Given the description of an element on the screen output the (x, y) to click on. 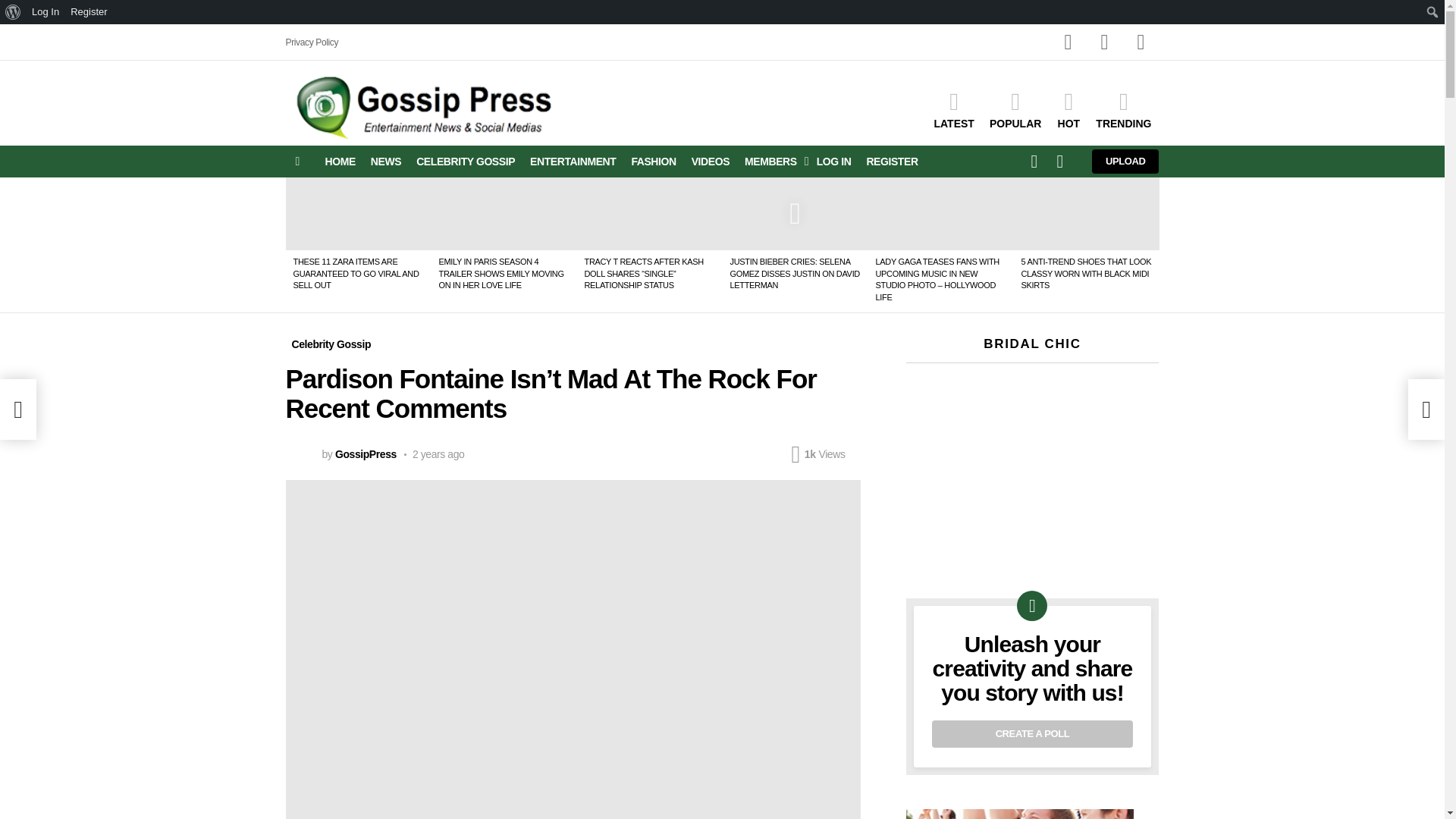
LATEST (953, 109)
HOME (339, 160)
Privacy Policy (311, 42)
Instagram (1140, 42)
Posts by GossipPress (365, 453)
Menu (296, 161)
August 8, 2022, 8:02 pm (434, 454)
TRENDING (1122, 109)
FASHION (652, 160)
Twitter (1104, 42)
NEWS (385, 160)
CELEBRITY GOSSIP (465, 160)
LOG IN (834, 160)
